Given the description of an element on the screen output the (x, y) to click on. 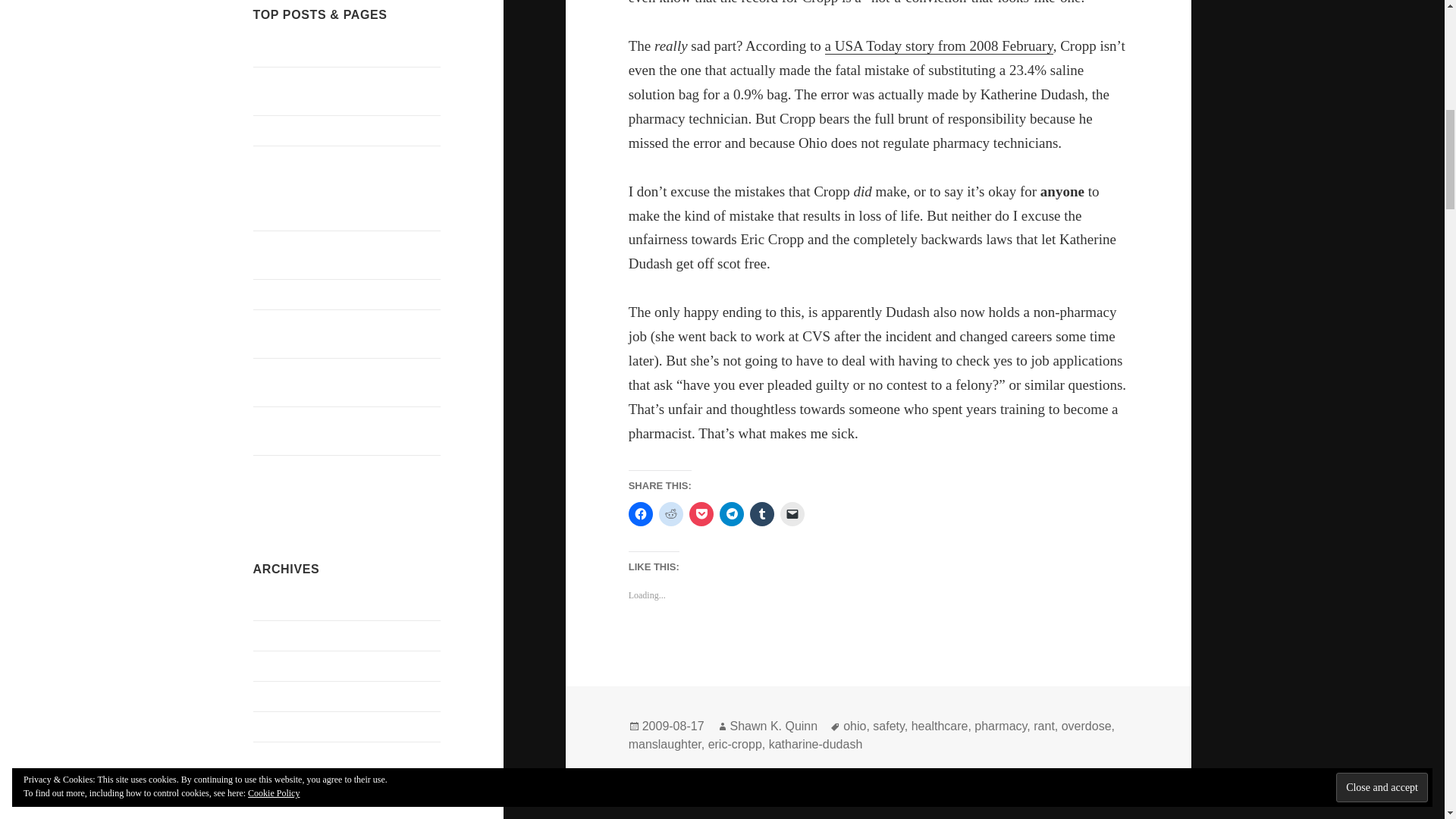
April 2024 (279, 666)
January 2024 (285, 726)
A pinball shark tale: champion gets accused of cheating (339, 254)
May 2024 (277, 635)
Click to share on Reddit (670, 514)
The big stepdown and the aftermath (340, 51)
Click to share on Telegram (731, 514)
Click to share on Pocket (700, 514)
Click to email a link to a friend (792, 514)
Regarding the attack on a former president and candidate (333, 90)
It's that time of the year again: Why "Happy Holidays"? (340, 332)
June 2023 (277, 815)
August 2023 (284, 787)
Regarding storms of May 16 (323, 129)
